Given the description of an element on the screen output the (x, y) to click on. 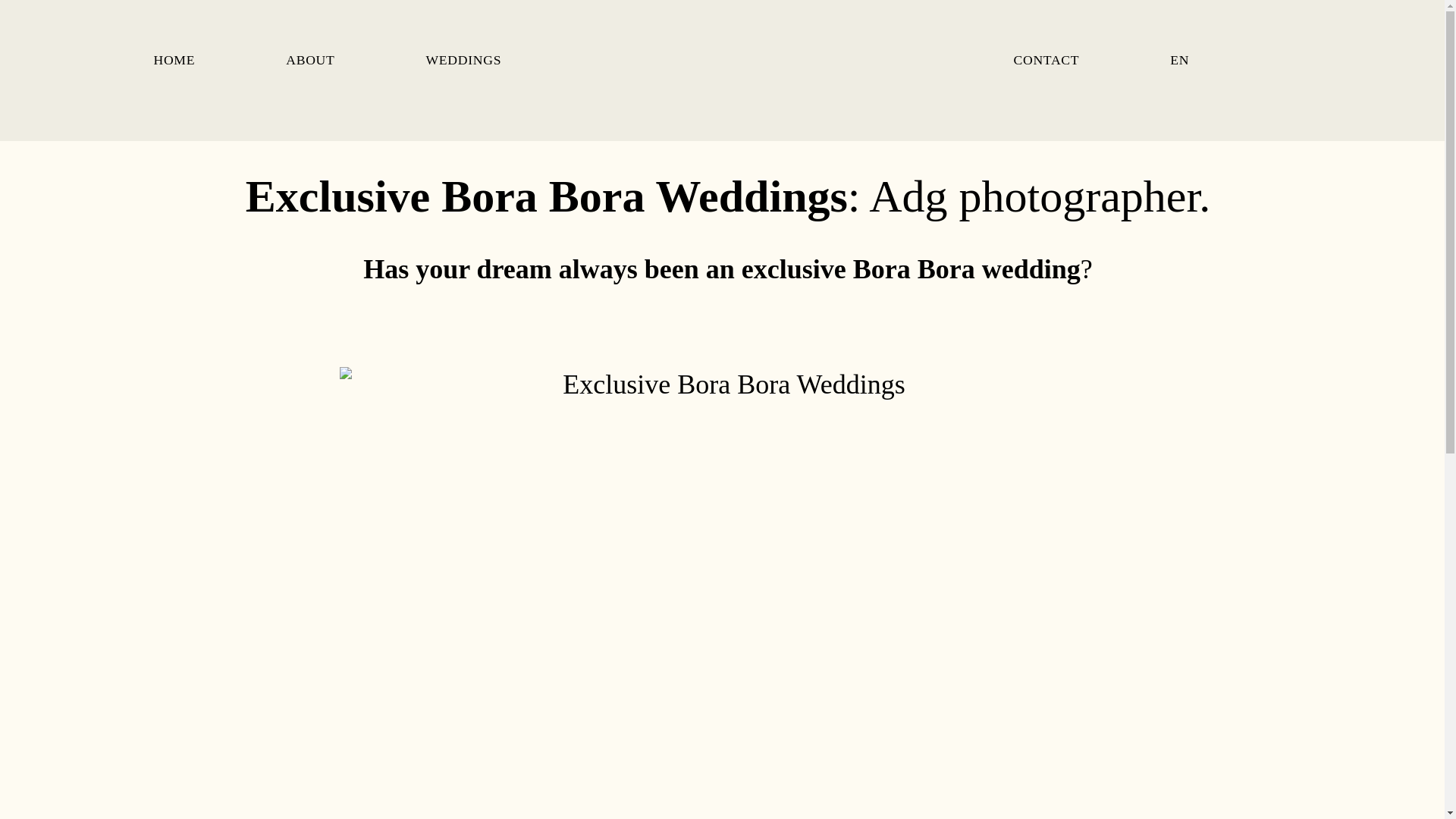
WEDDINGS (464, 60)
ABOUT (309, 60)
HOME (173, 60)
EN (1179, 60)
CONTACT (1045, 60)
